Given the description of an element on the screen output the (x, y) to click on. 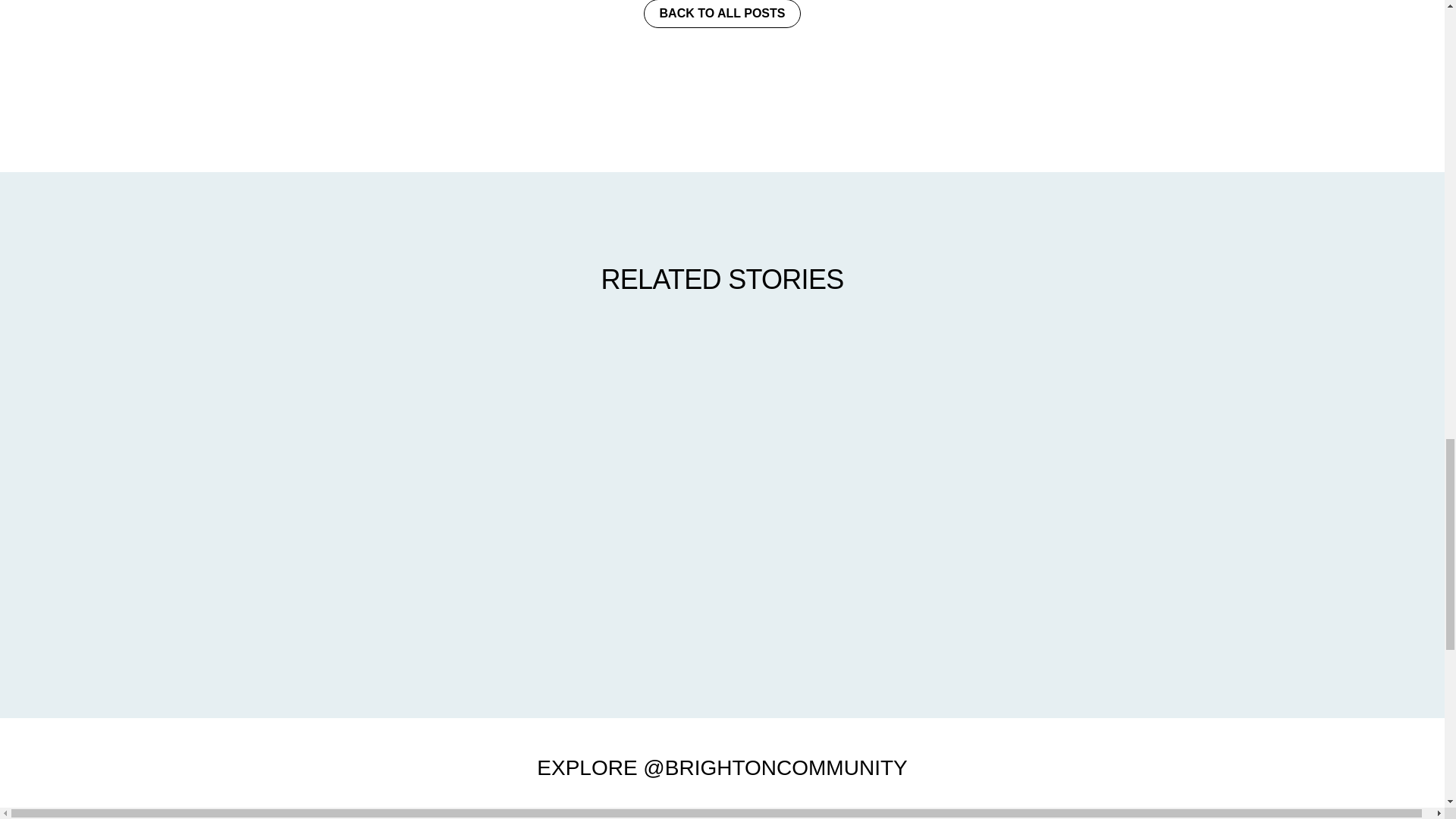
BACK TO ALL POSTS (722, 13)
